Given the description of an element on the screen output the (x, y) to click on. 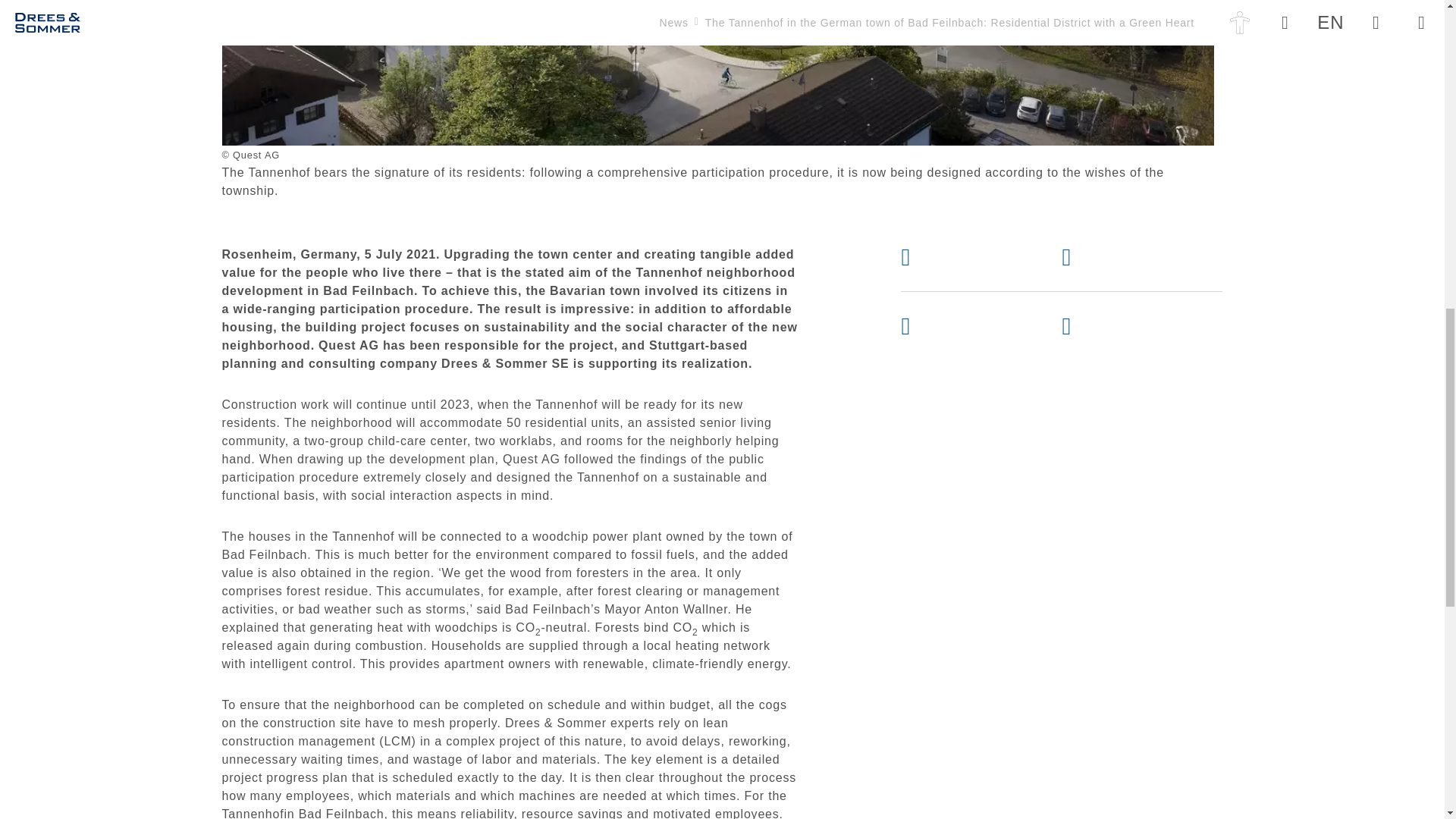
Send by email (961, 256)
Share on XING (961, 325)
Share on LinkedIn (1121, 325)
print (1121, 256)
